Given the description of an element on the screen output the (x, y) to click on. 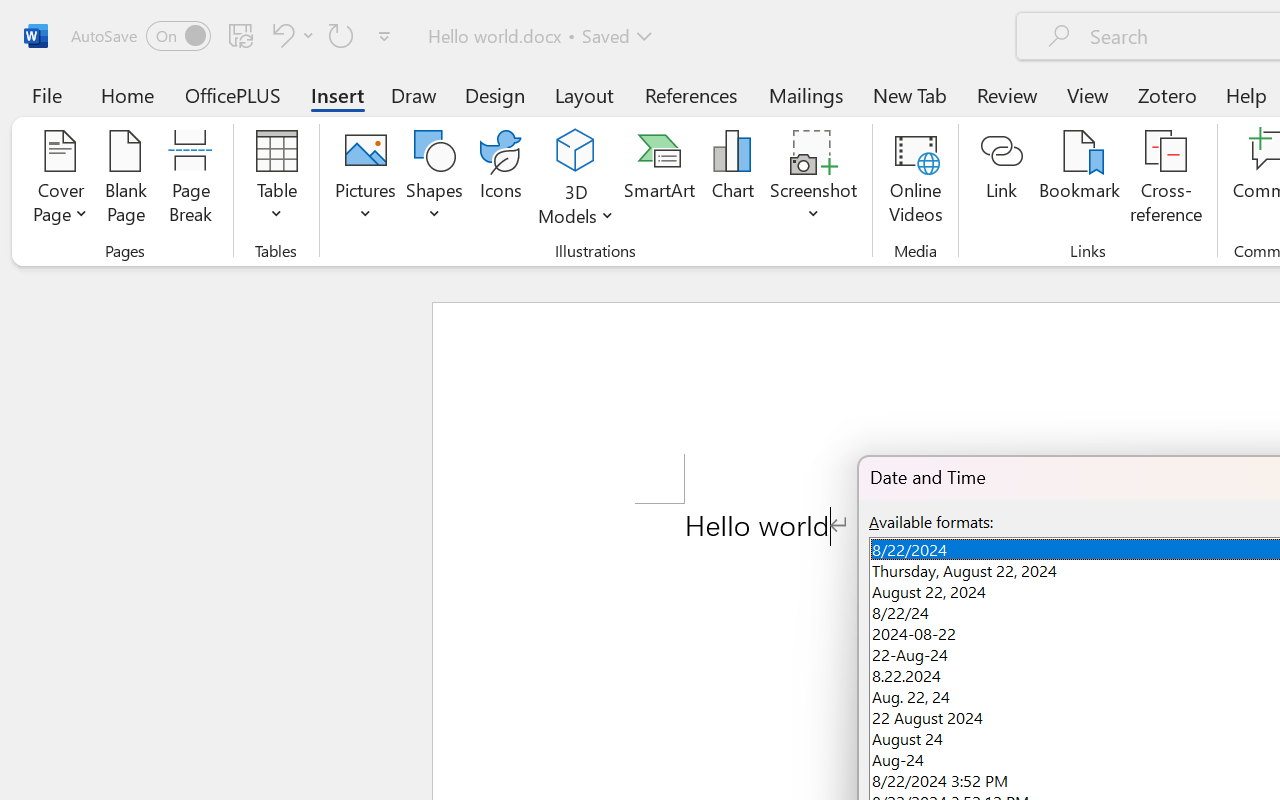
3D Models (576, 151)
Blank Page (125, 179)
Save (241, 35)
3D Models (576, 179)
Cover Page (60, 179)
Customize Quick Access Toolbar (384, 35)
File Tab (46, 94)
OfficePLUS (233, 94)
Table (276, 179)
